Given the description of an element on the screen output the (x, y) to click on. 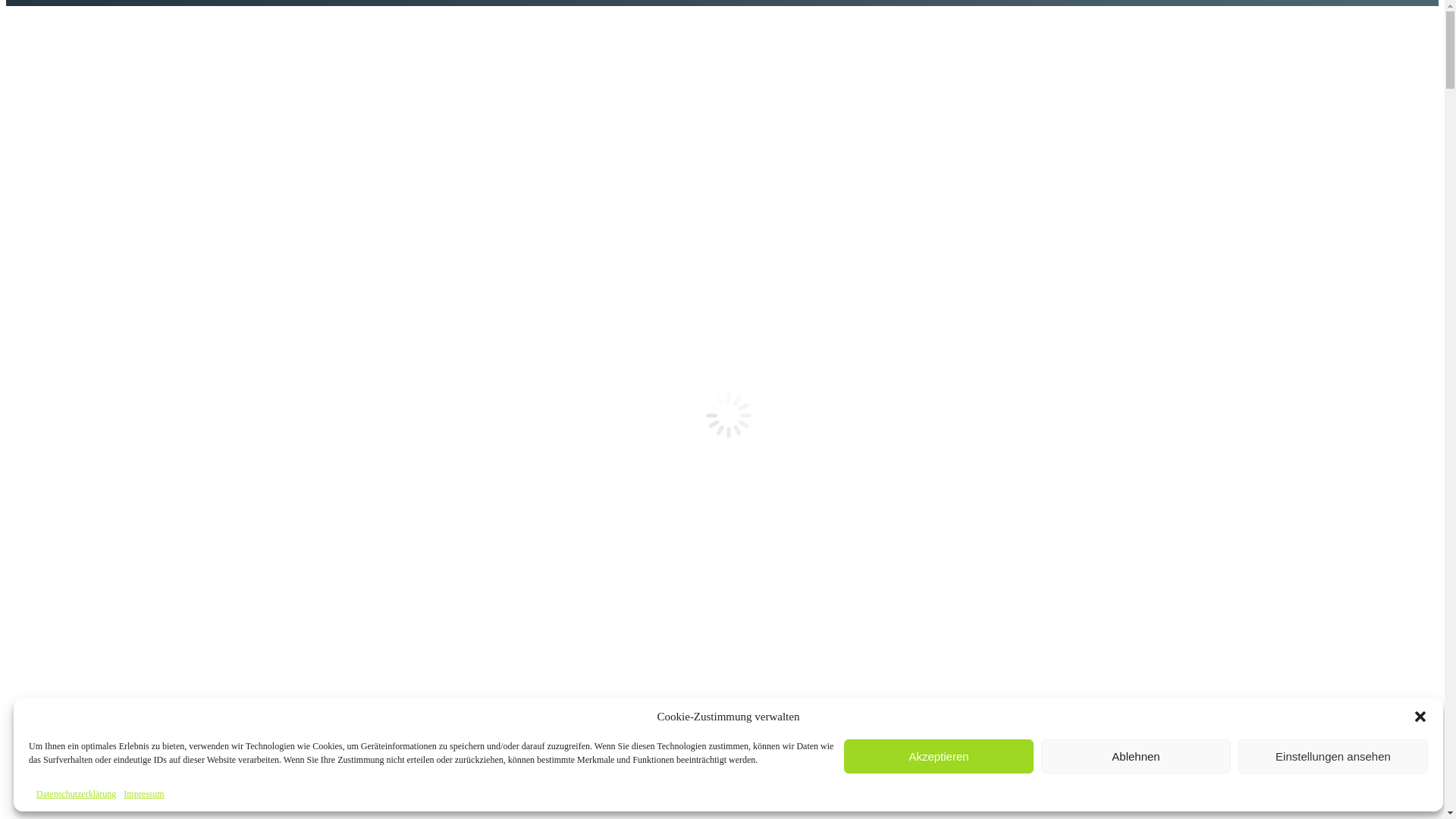
Impressum Element type: text (143, 794)
EN Element type: text (542, 17)
Leistungen Element type: text (479, 75)
dialog@comtexto.ch Element type: text (382, 21)
IT Element type: text (516, 17)
Multilinguales SEO Element type: text (826, 715)
Angebot anfragen Element type: text (1105, 20)
Akzeptieren Element type: text (938, 756)
Lektorat Element type: text (826, 355)
Italienisch Element type: text (589, 357)
Korrektorat Element type: text (826, 268)
Deutsch Element type: text (589, 183)
Einstellungen ansehen Element type: text (1332, 756)
Ablehnen Element type: text (1135, 756)
Weitere Sprachen Element type: text (589, 618)
FR Element type: text (490, 17)
Englisch Element type: text (589, 530)
